Given the description of an element on the screen output the (x, y) to click on. 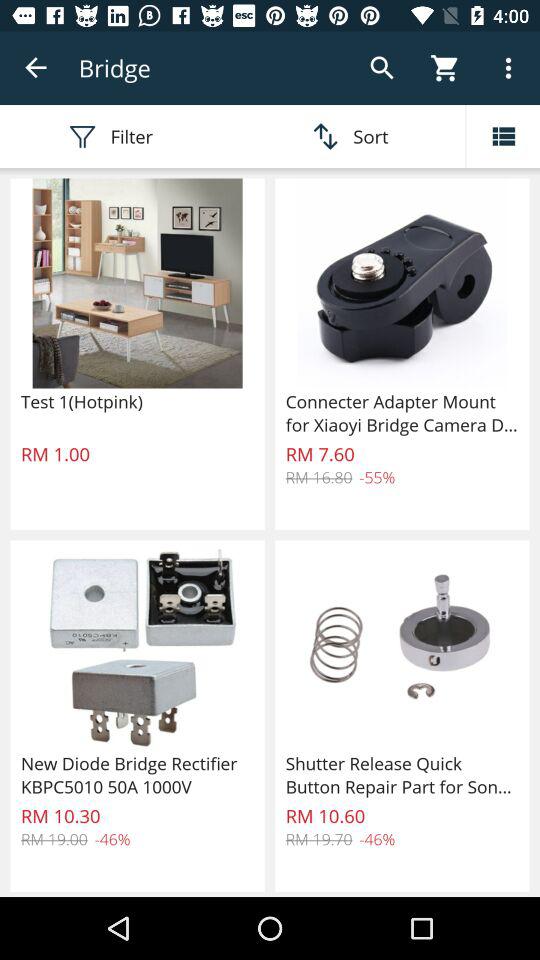
more options (503, 136)
